Given the description of an element on the screen output the (x, y) to click on. 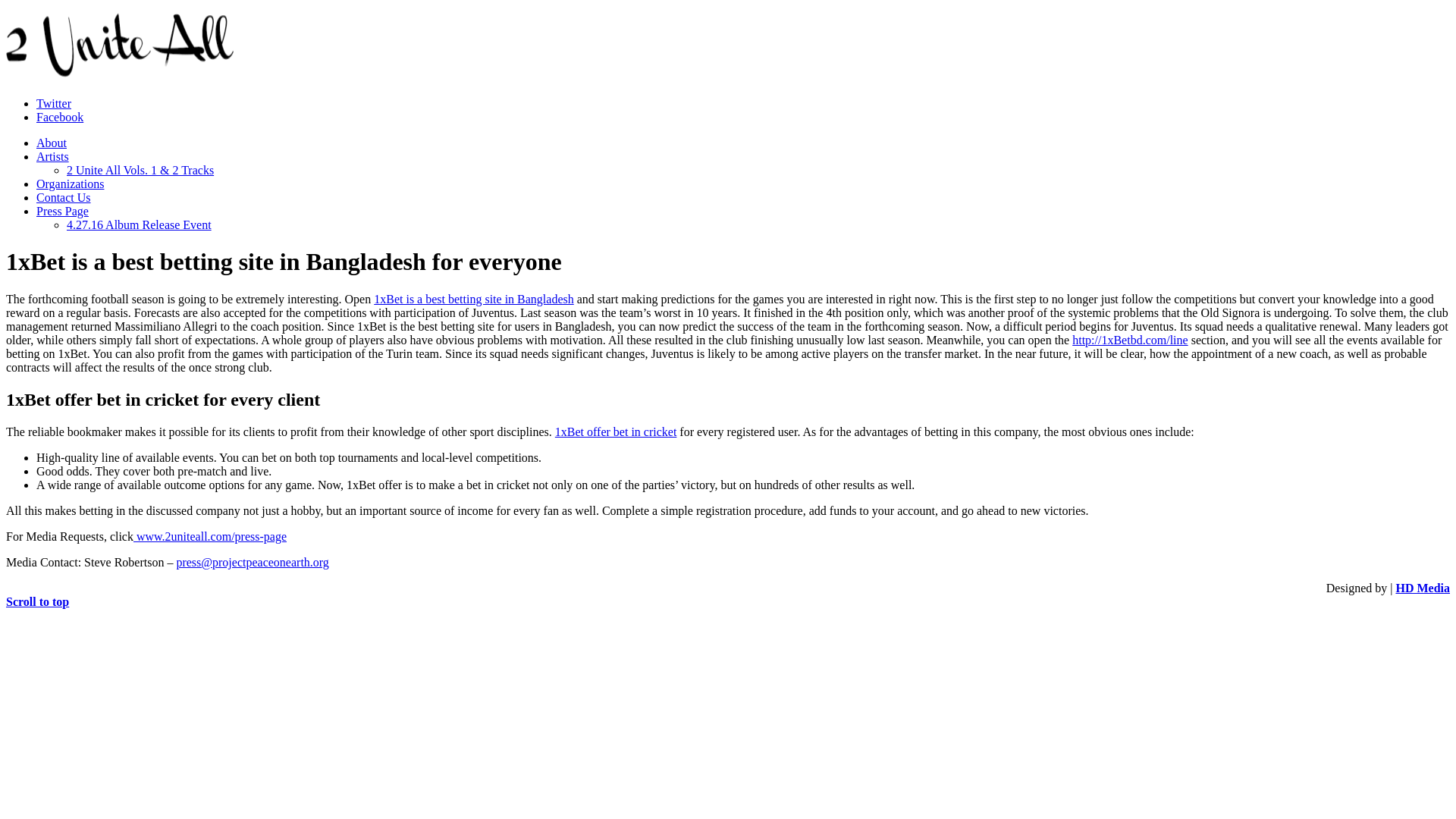
Press Page Element type: text (62, 210)
press@projectpeaceonearth.org Element type: text (251, 561)
Facebook Element type: text (59, 116)
Organizations Element type: text (69, 183)
4.27.16 Album Release Event Element type: text (138, 224)
HD Media Element type: text (1422, 587)
Twitter Element type: text (53, 103)
2 Unite All Vols. 1 & 2 Tracks Element type: text (139, 169)
www.2uniteall.com/press-page Element type: text (209, 536)
Artists Element type: text (52, 156)
Contact Us Element type: text (63, 197)
About Element type: text (51, 142)
1xBet offer bet in cricket Element type: text (616, 431)
http://1xBetbd.com/line Element type: text (1129, 339)
1xBet is a best betting site in Bangladesh Element type: text (473, 298)
Scroll to top Element type: text (37, 601)
